Given the description of an element on the screen output the (x, y) to click on. 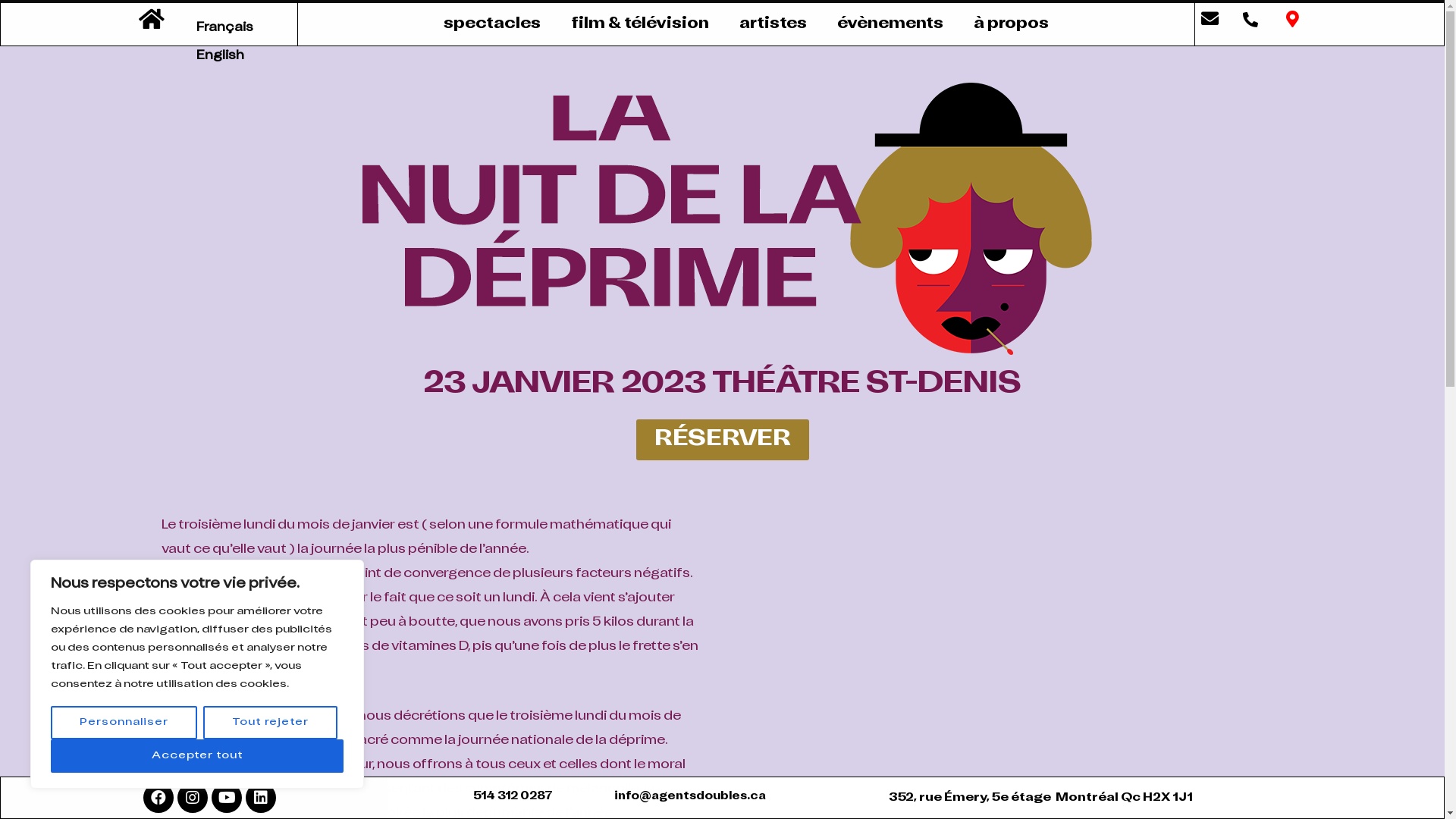
Tout rejeter Element type: text (270, 722)
Accepter tout Element type: text (196, 755)
514 312 0287 Element type: text (512, 796)
Personnaliser Element type: text (123, 722)
artistes Element type: text (773, 23)
spectacles Element type: text (491, 23)
info@agentsdoubles.ca Element type: text (689, 796)
English Element type: text (220, 55)
